Given the description of an element on the screen output the (x, y) to click on. 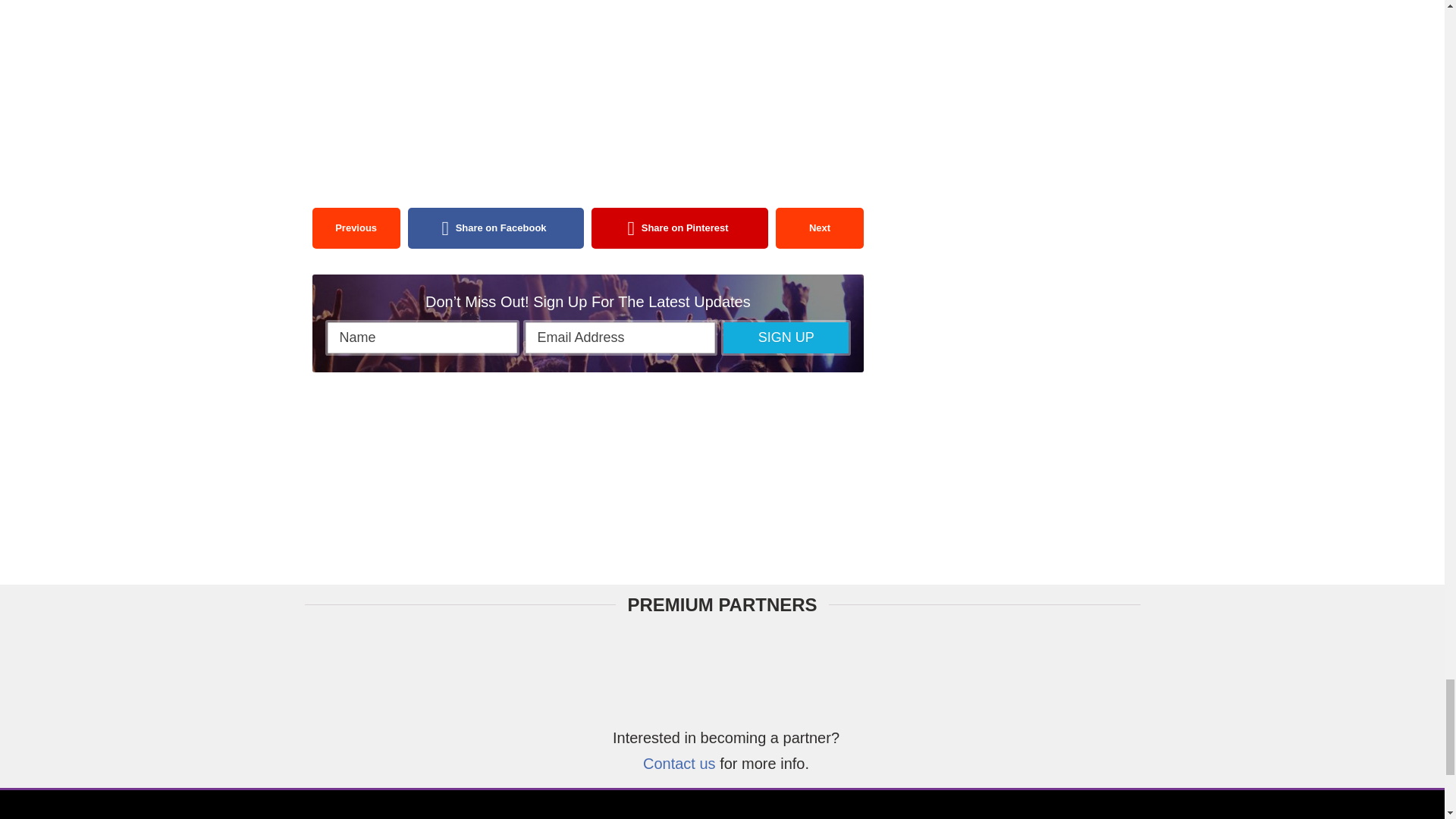
Sign Up (785, 337)
Share on Pinterest (679, 228)
